Given the description of an element on the screen output the (x, y) to click on. 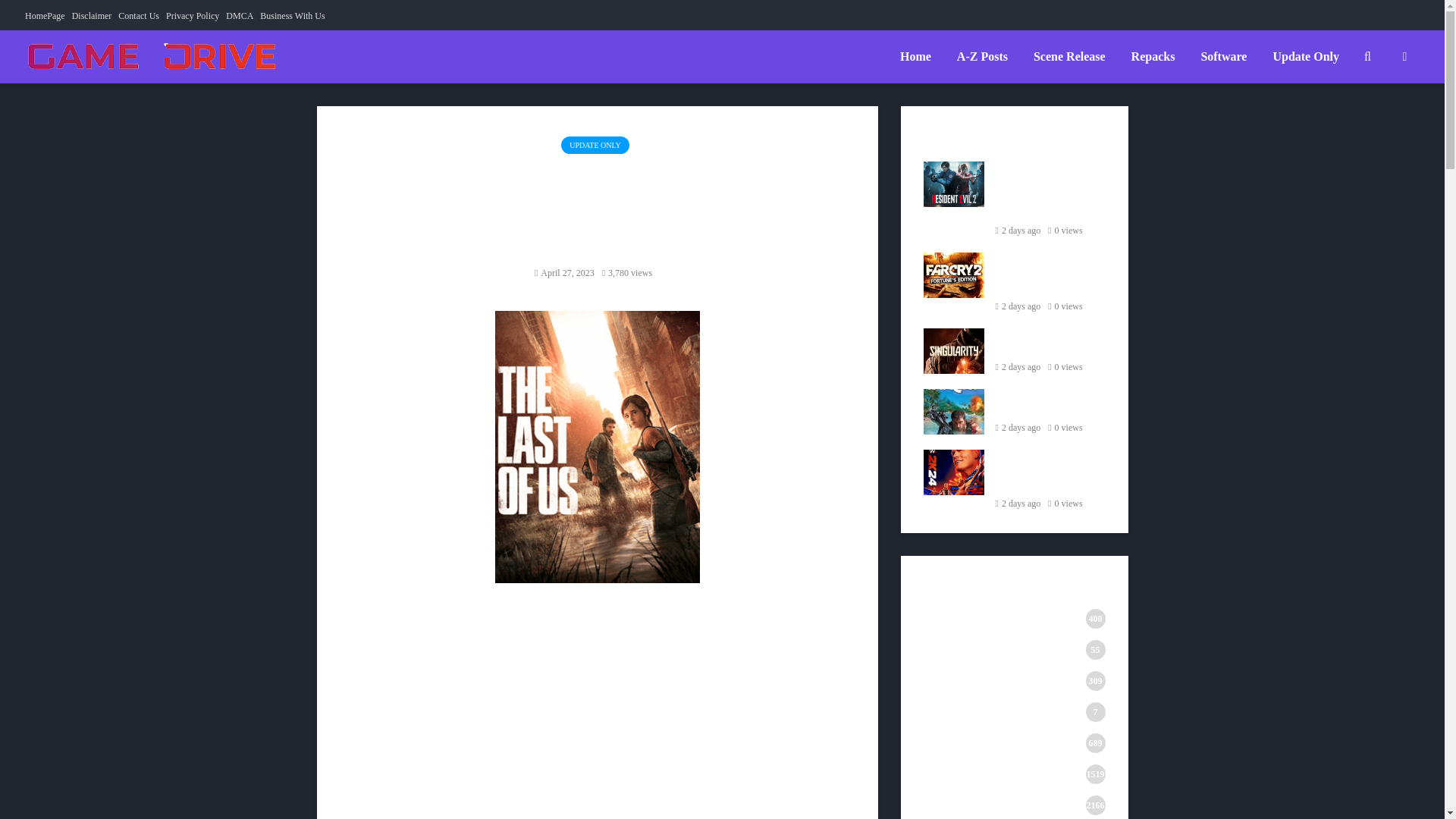
Business With Us (292, 15)
Repacks (1152, 56)
A-Z Posts (981, 56)
HomePage (44, 15)
DMCA (239, 15)
Privacy Policy (192, 15)
Contact Us (137, 15)
Scene Release (1069, 56)
Update Only (1305, 56)
Software (1223, 56)
